Given the description of an element on the screen output the (x, y) to click on. 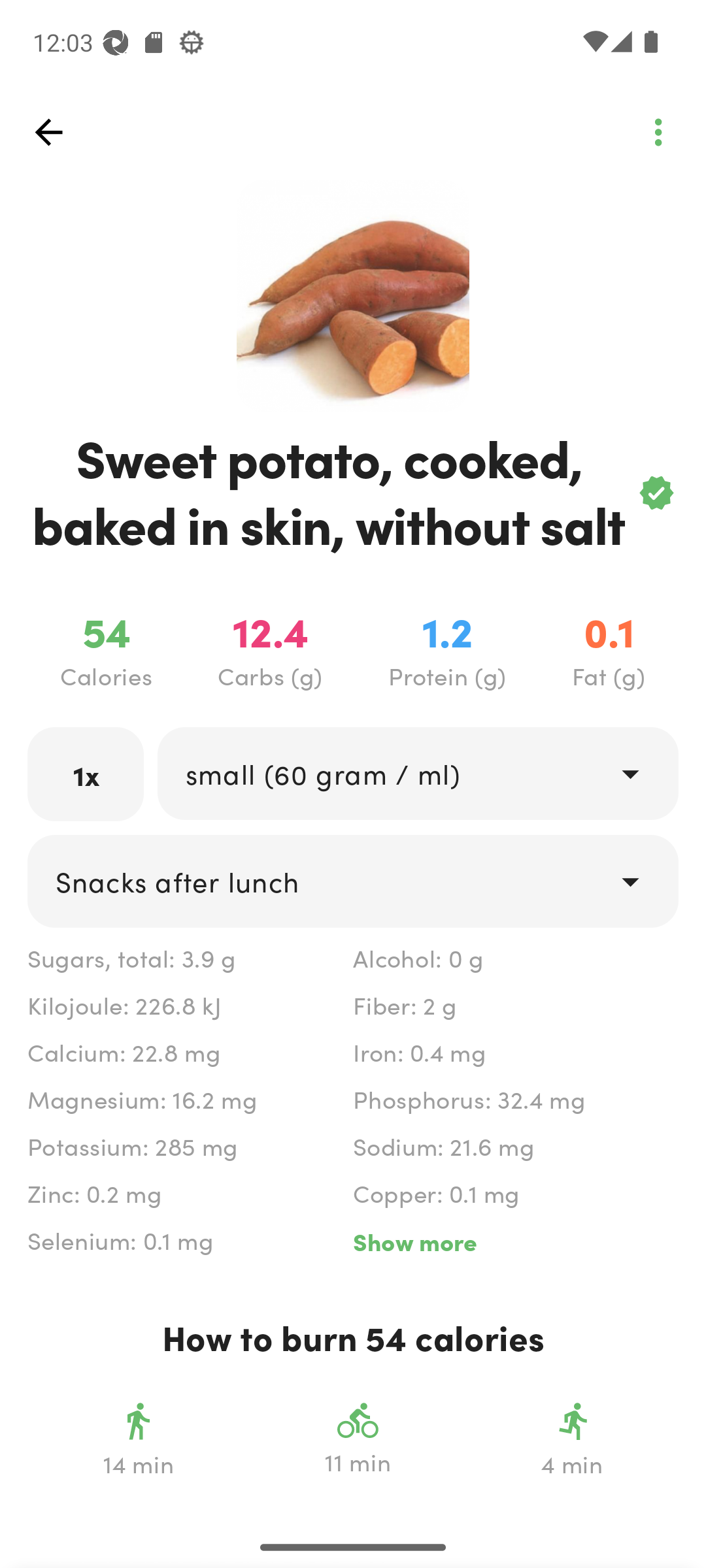
top_left_action (48, 132)
top_left_action (658, 132)
1x labeled_edit_text (85, 774)
drop_down small (60 gram / ml) (417, 773)
drop_down Snacks after lunch (352, 881)
Show more (515, 1240)
